Given the description of an element on the screen output the (x, y) to click on. 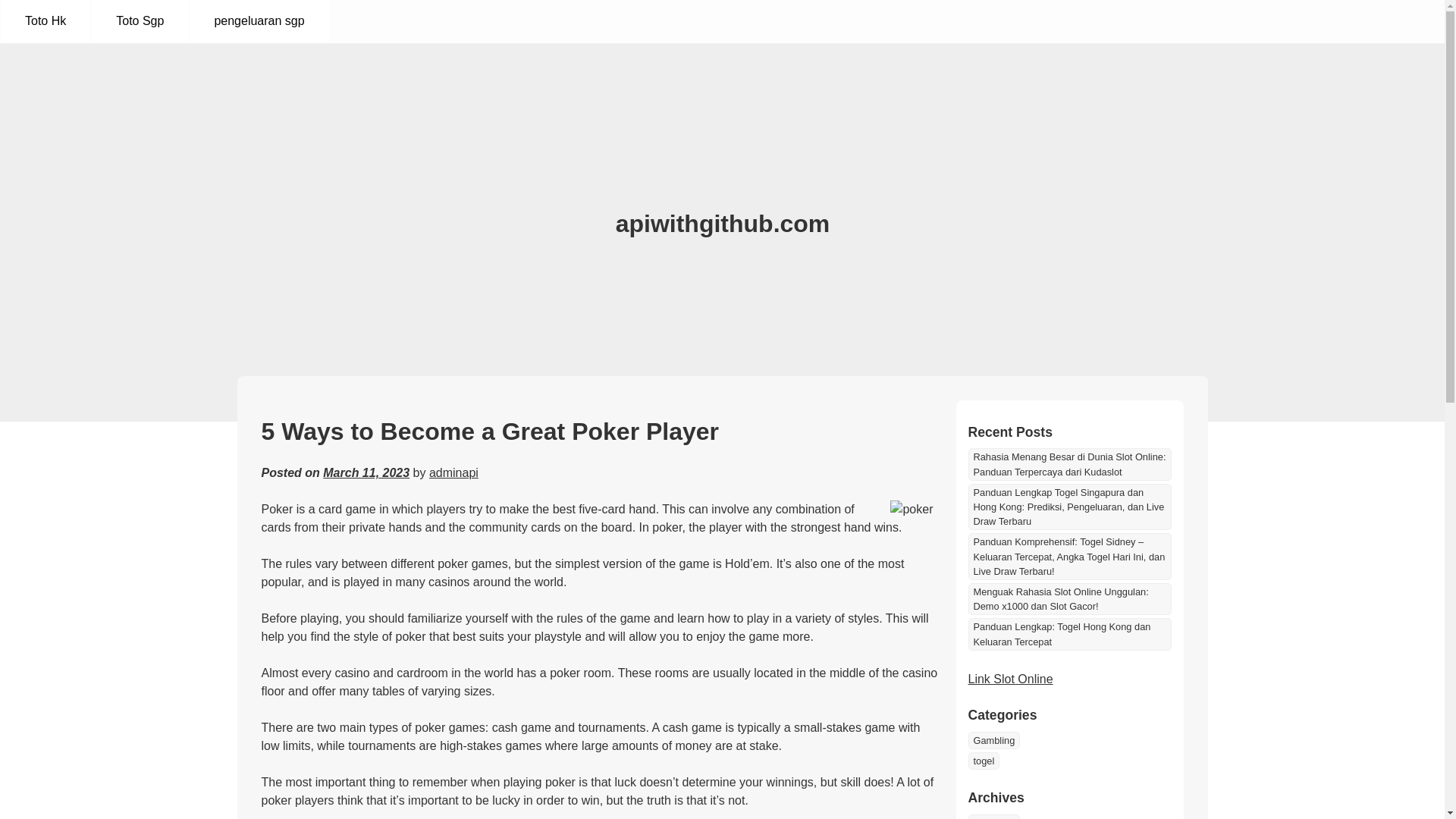
Gambling (994, 740)
pengeluaran sgp (259, 21)
March 11, 2023 (366, 472)
Link Slot Online (1010, 678)
adminapi (454, 472)
togel (983, 760)
Panduan Lengkap: Togel Hong Kong dan Keluaran Tercepat (1069, 634)
Toto Hk (45, 21)
Toto Sgp (139, 21)
July 2024 (994, 816)
